Given the description of an element on the screen output the (x, y) to click on. 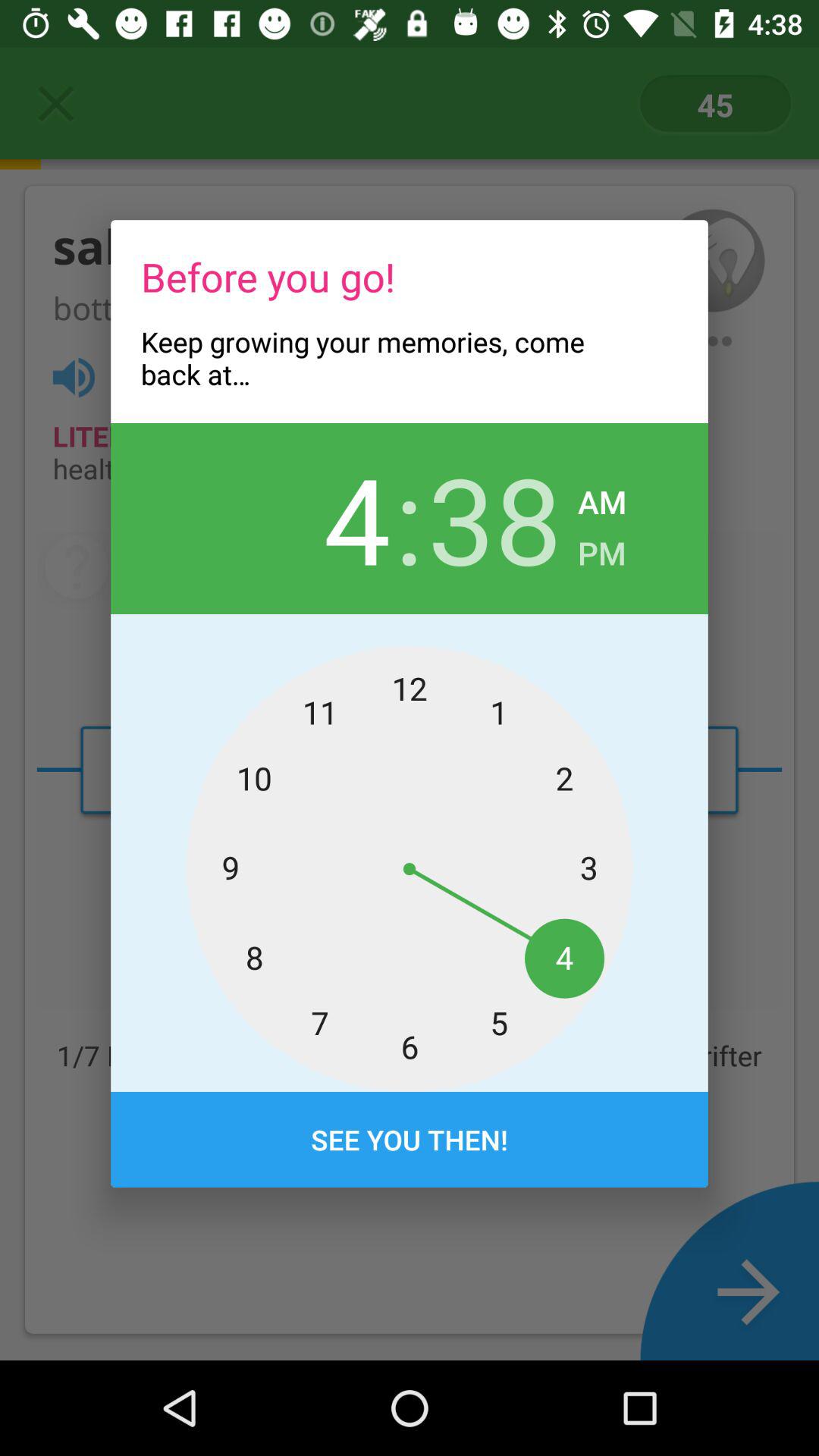
swipe until am icon (601, 497)
